Given the description of an element on the screen output the (x, y) to click on. 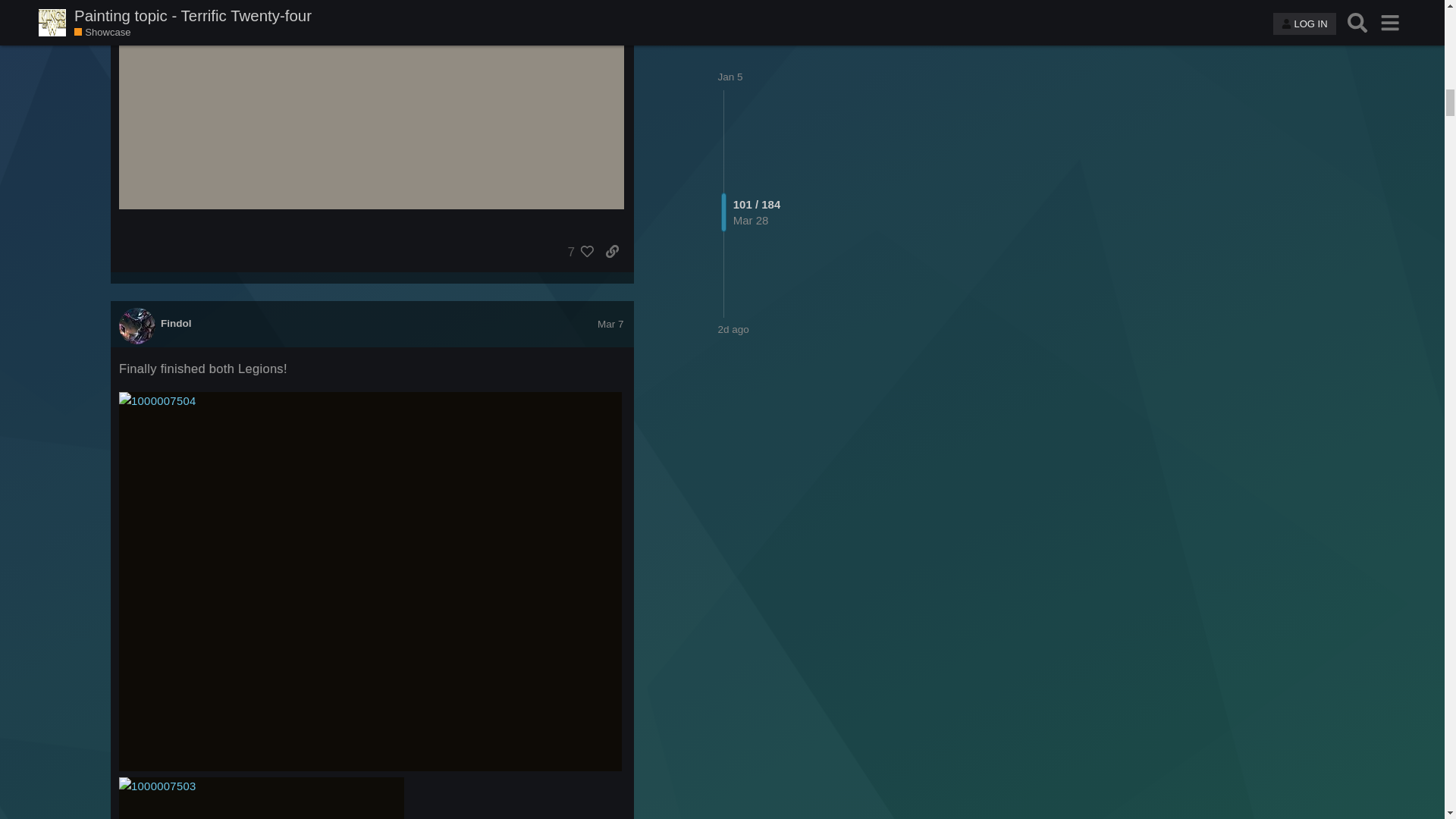
Findol (176, 323)
Mar 7 (610, 324)
7 (577, 251)
